Given the description of an element on the screen output the (x, y) to click on. 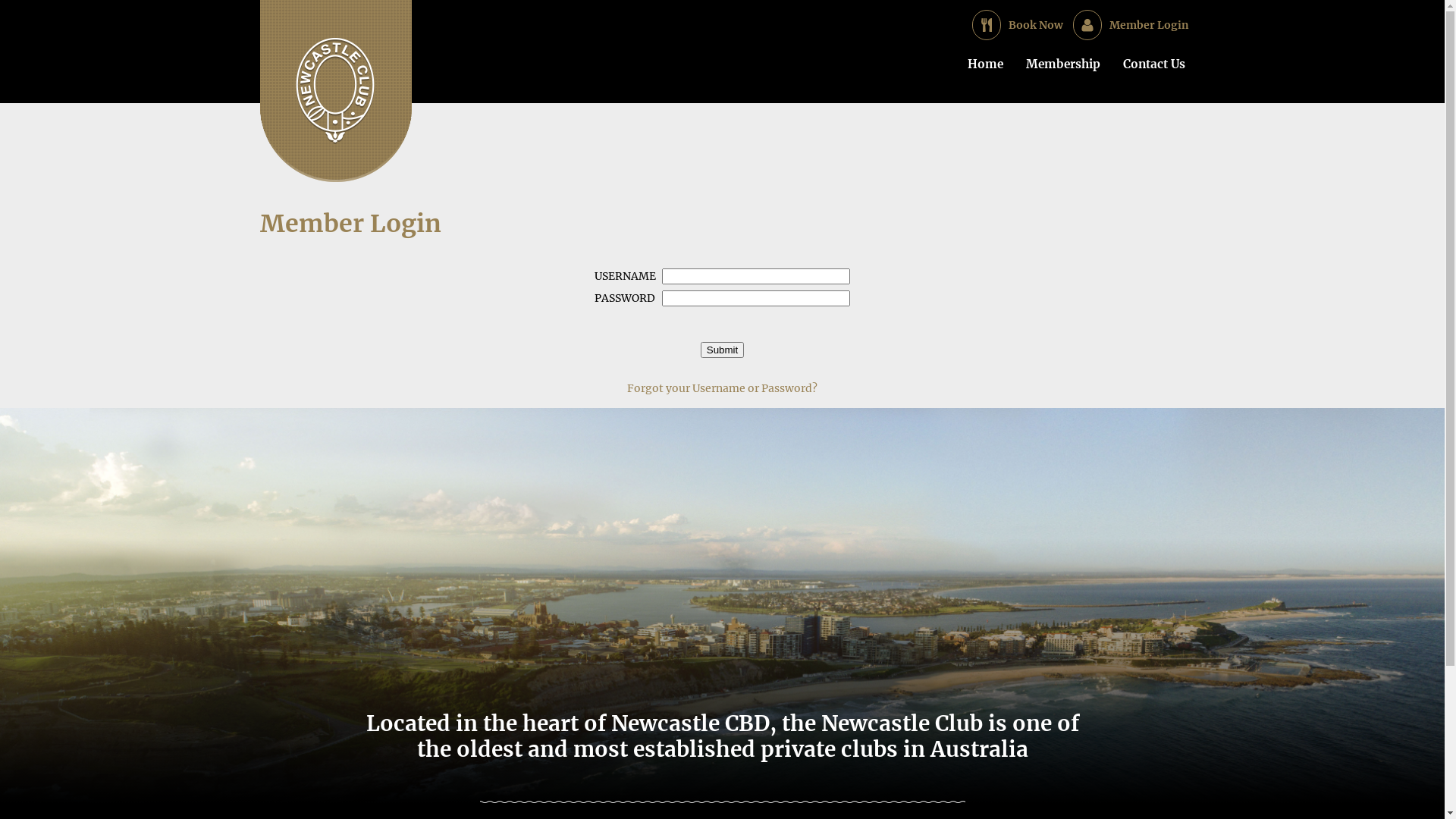
Forgot your Username or Password? Element type: text (722, 388)
Contact Us Element type: text (1153, 71)
Member Login Element type: text (1151, 24)
Home Element type: text (984, 71)
Submit Element type: text (721, 349)
Membership Element type: text (1062, 71)
Book Now Element type: text (1039, 24)
